Given the description of an element on the screen output the (x, y) to click on. 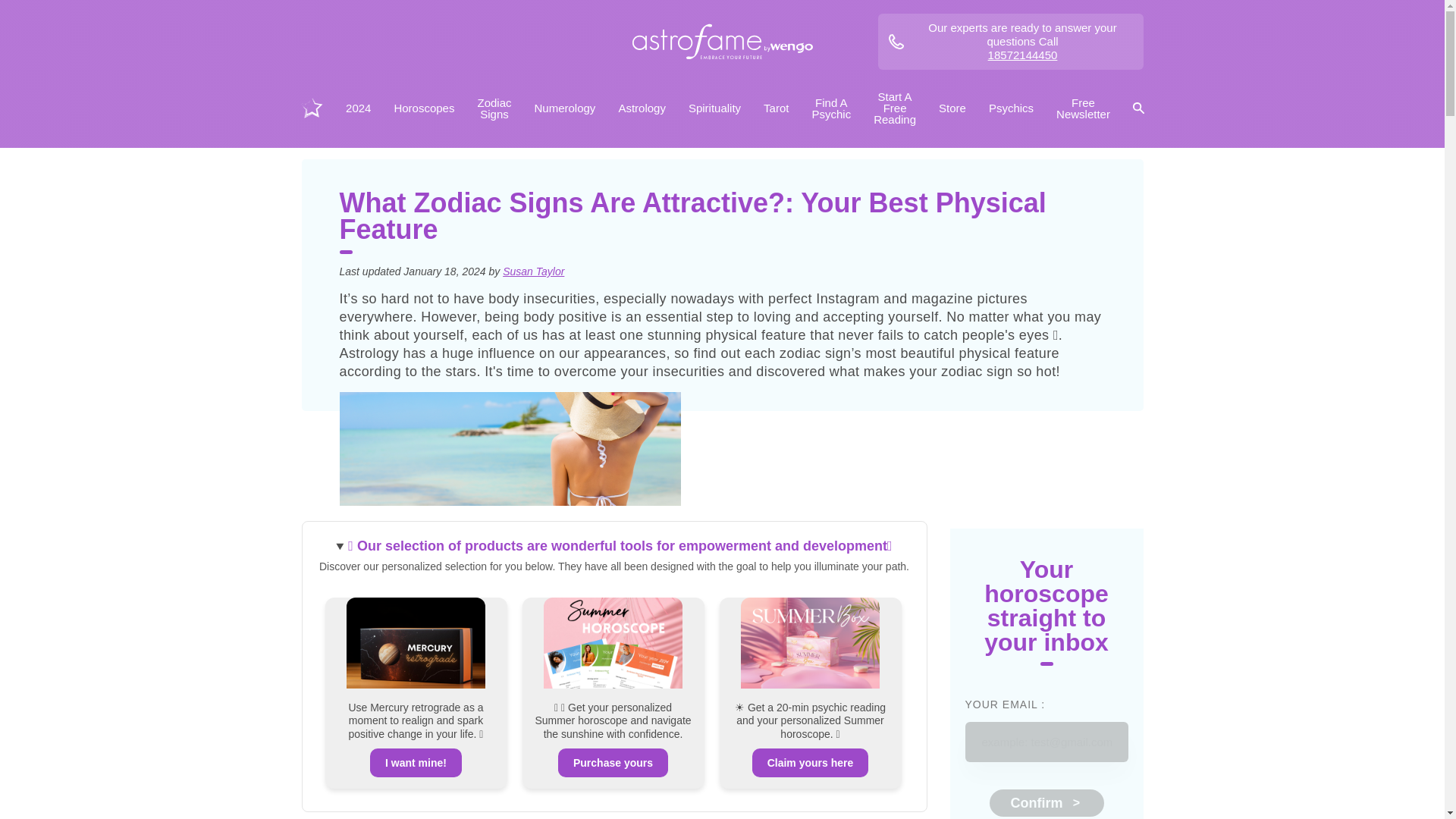
Start A Free Reading (894, 107)
Search (1138, 108)
Psychics (1011, 108)
Spirituality (714, 108)
Horoscopes (423, 108)
Zodiac Signs (493, 108)
Horoscopes (423, 108)
Shop (952, 108)
Numerology (563, 108)
Contacter (1009, 41)
Store (952, 108)
Zodiac Signs (493, 108)
Find A Psychic (831, 108)
Tarot (775, 108)
